Given the description of an element on the screen output the (x, y) to click on. 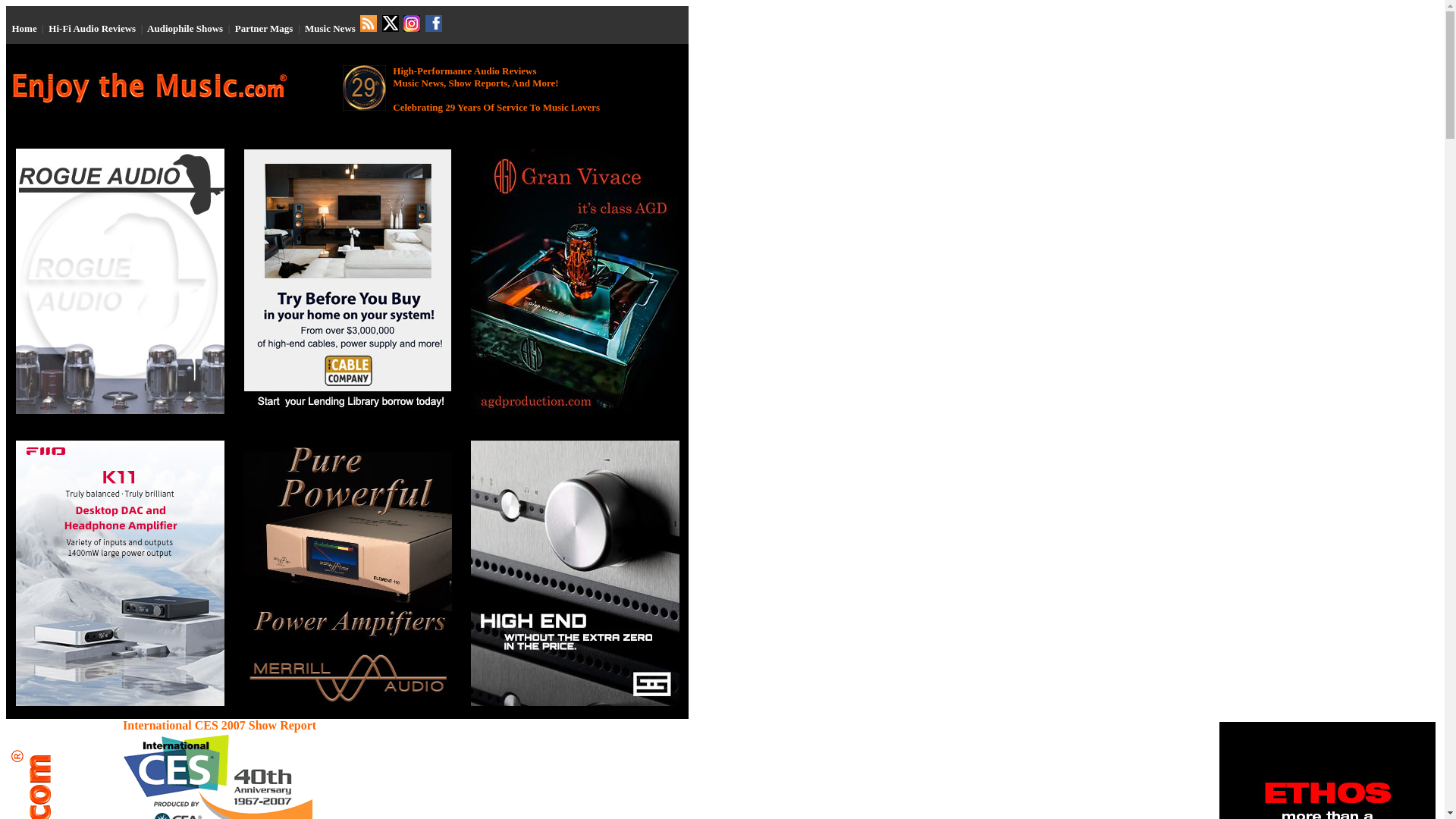
Partner Mags (264, 28)
Music News (329, 28)
Home (24, 28)
Hi-Fi Audio Reviews (91, 28)
Audiophile Shows (184, 28)
